Given the description of an element on the screen output the (x, y) to click on. 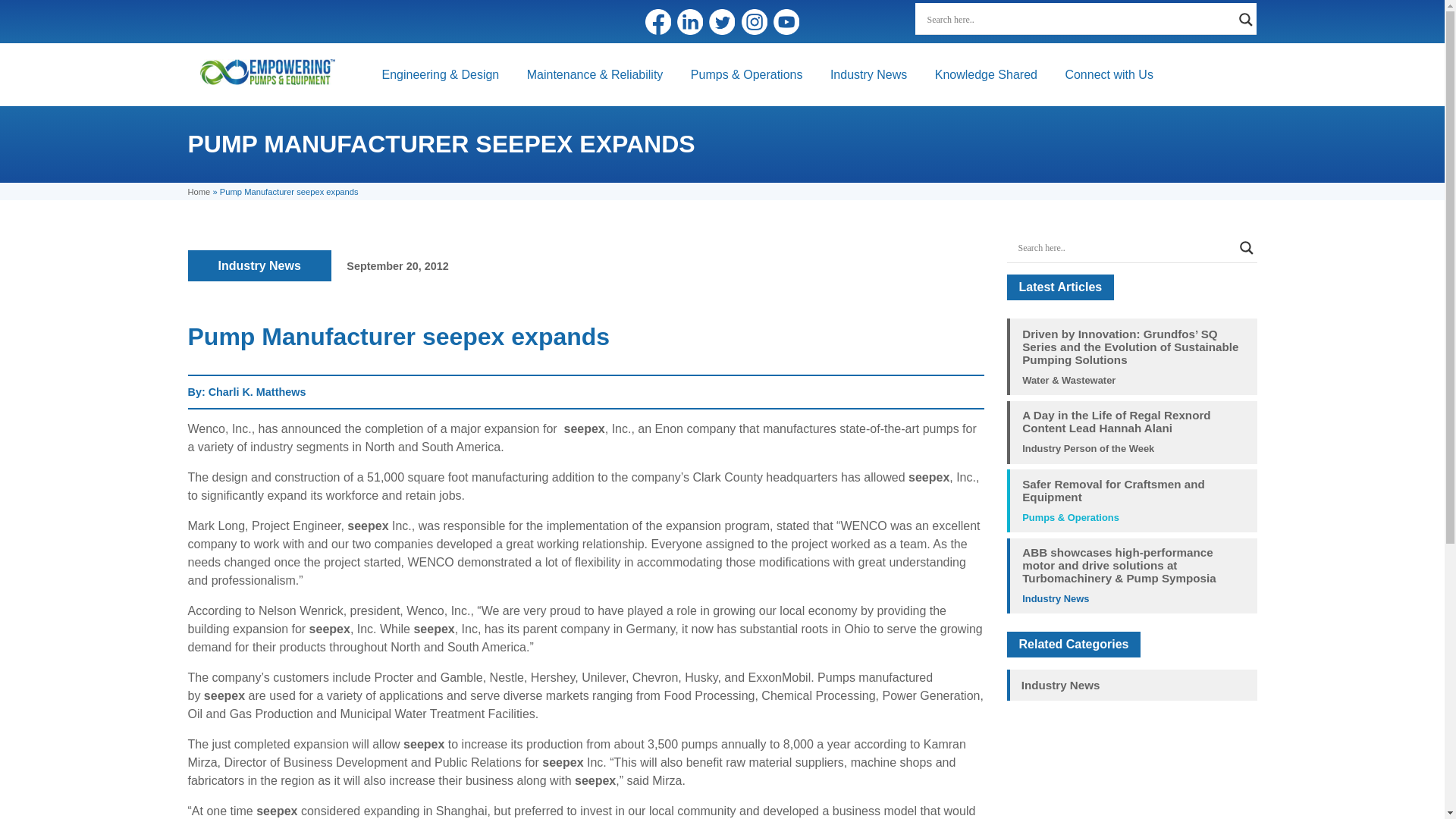
YouTube (786, 22)
Industry News (868, 73)
Instagram (754, 22)
LinkedIn (690, 22)
Empowering Pumps on Facebook (658, 22)
Empowering Pumps on Instagram (754, 22)
Knowledge Shared (986, 73)
Safer Removal for Craftsmen and Equipment (1133, 490)
Connect with Us (1109, 73)
Industry News (259, 265)
